Given the description of an element on the screen output the (x, y) to click on. 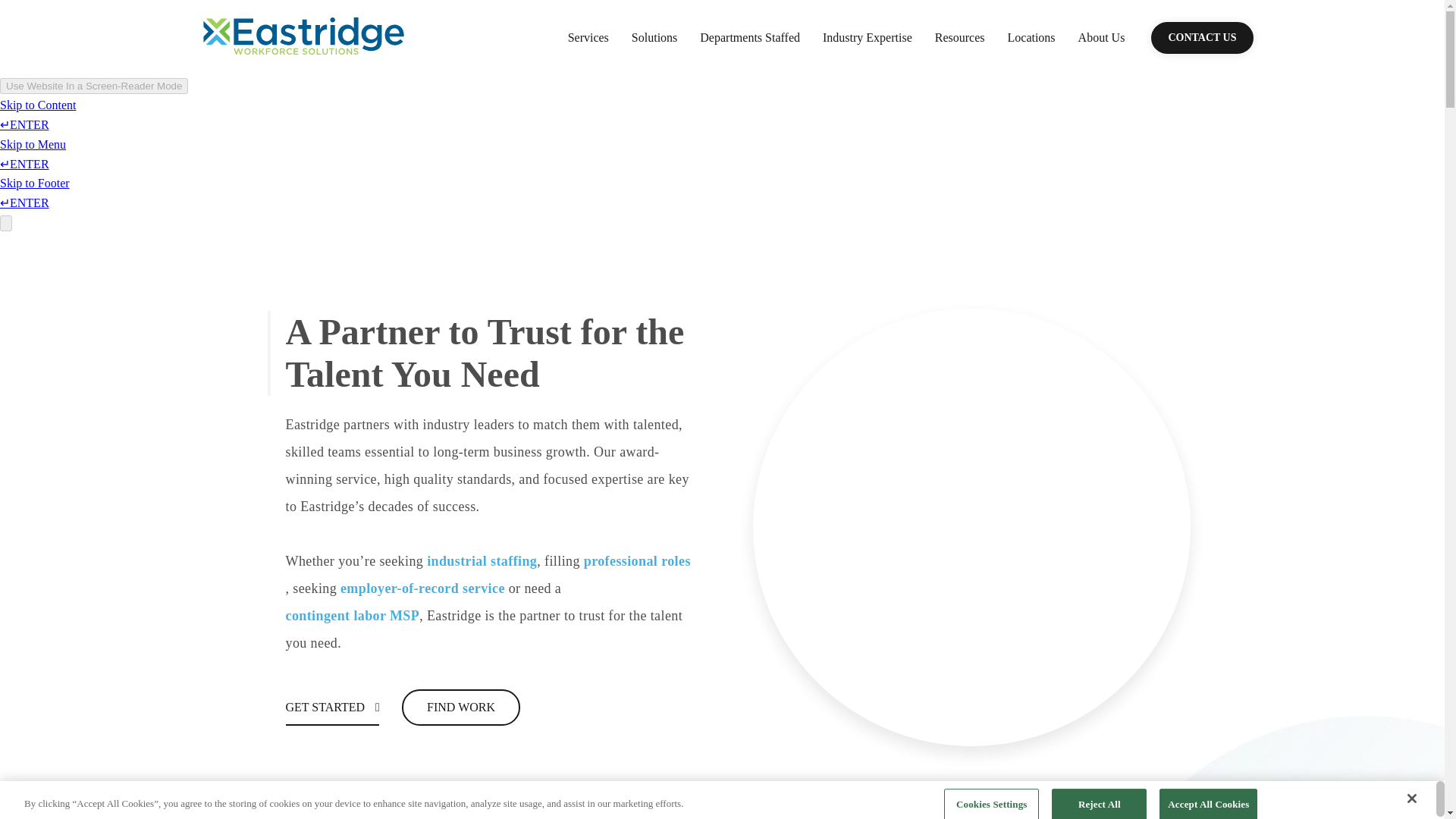
Departments Staffed (749, 37)
Services (587, 37)
Resources (959, 37)
Solutions (654, 37)
Contact Us (1201, 38)
Industry Expertise (867, 37)
